Given the description of an element on the screen output the (x, y) to click on. 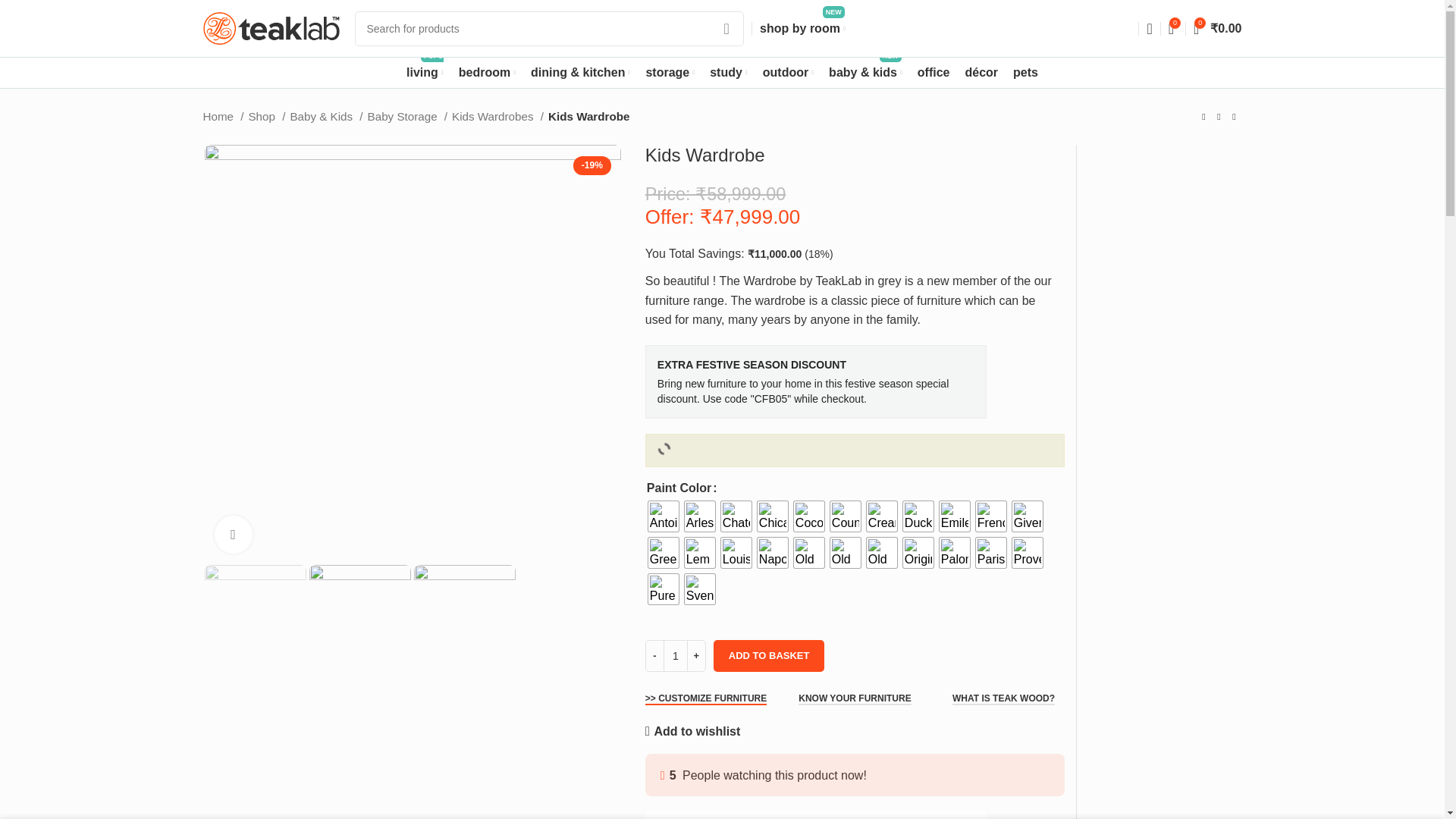
Shopping cart (802, 28)
SEARCH (425, 72)
Search for products (1217, 28)
